Given the description of an element on the screen output the (x, y) to click on. 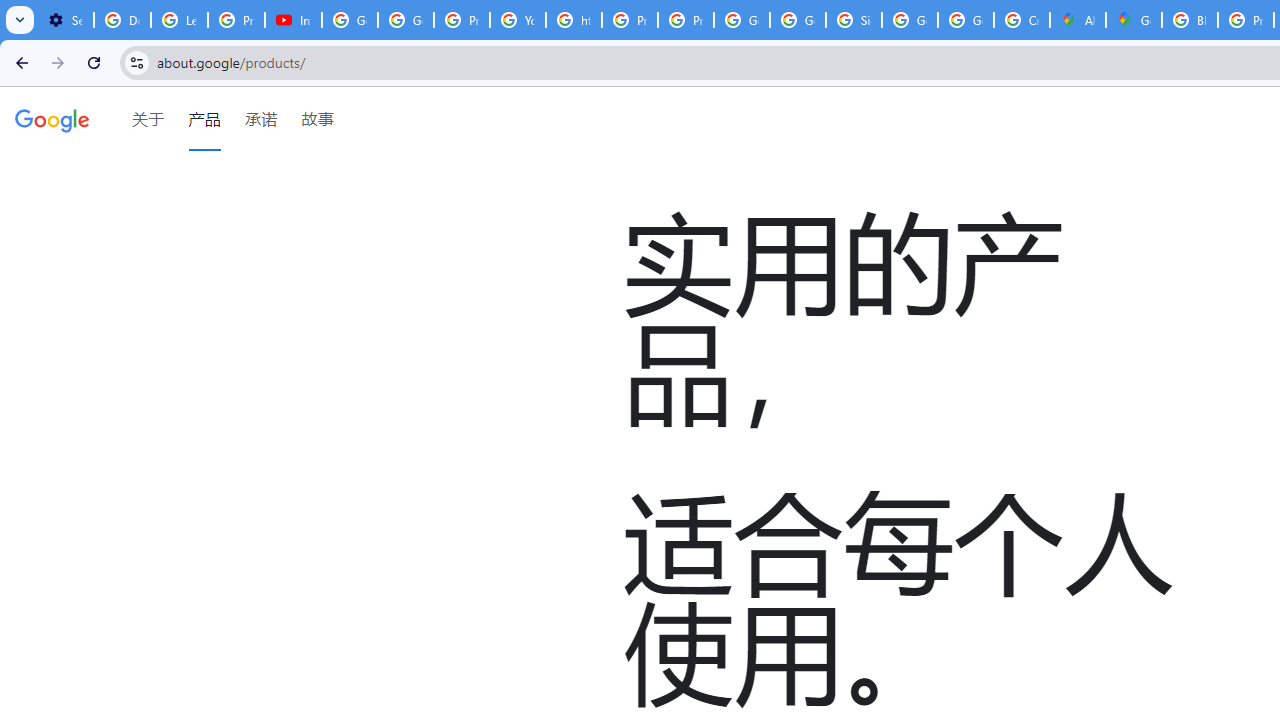
Blogger Policies and Guidelines - Transparency Center (1190, 20)
Google Maps (1133, 20)
Introduction | Google Privacy Policy - YouTube (293, 20)
Settings - Customize profile (65, 20)
Privacy Help Center - Policies Help (629, 20)
Sign in - Google Accounts (853, 20)
